Given the description of an element on the screen output the (x, y) to click on. 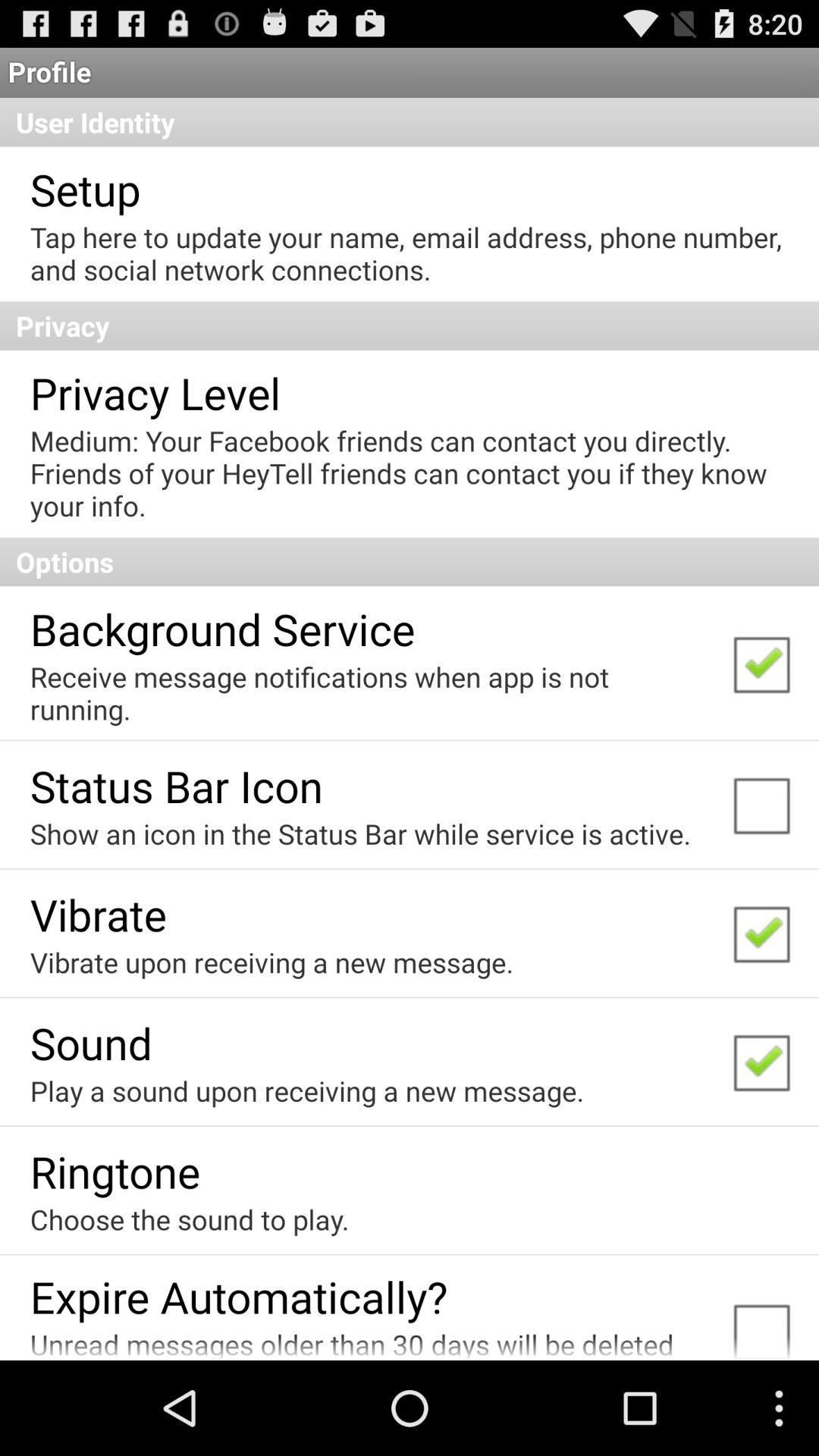
click medium your facebook (408, 473)
